Given the description of an element on the screen output the (x, y) to click on. 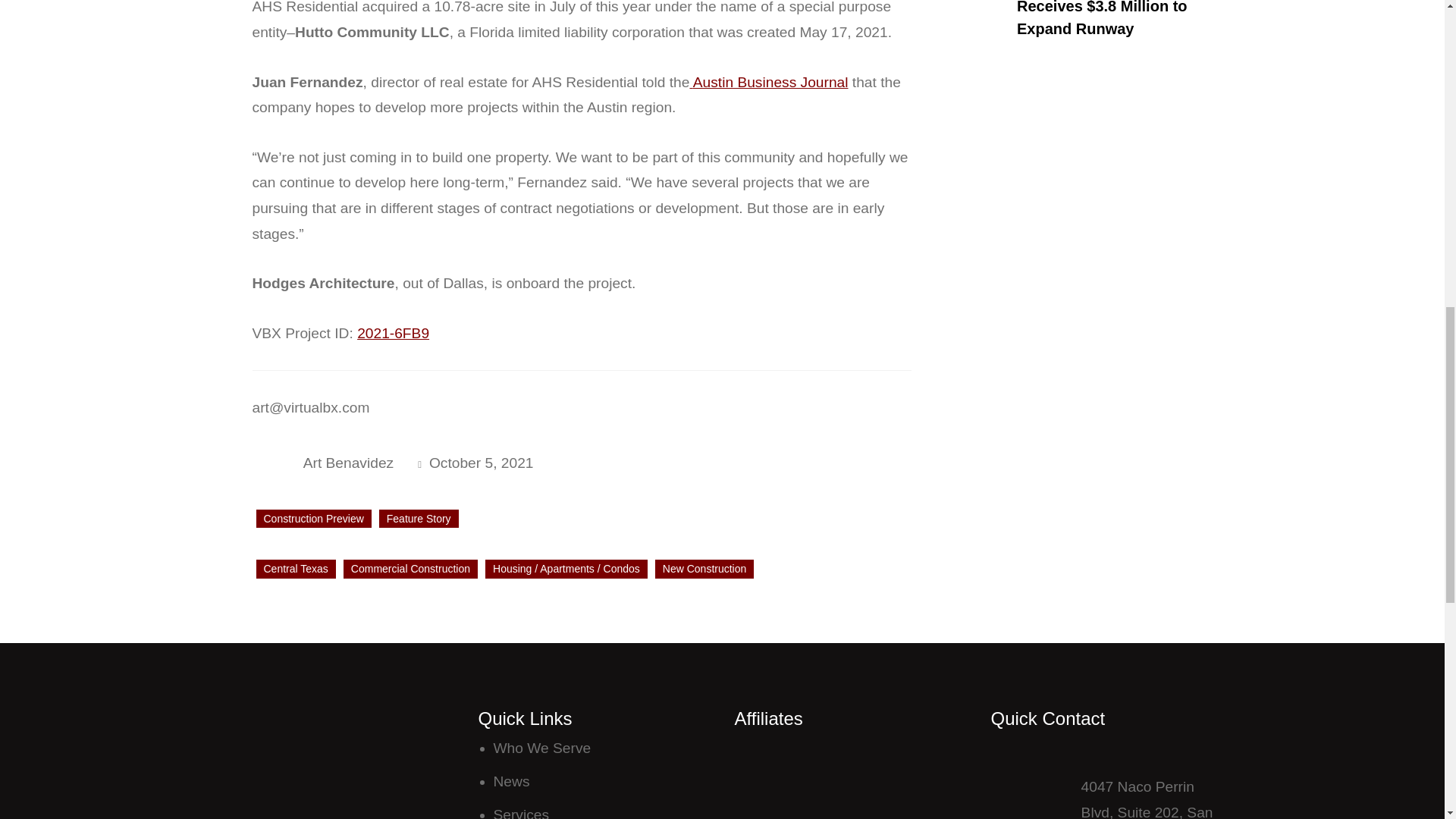
Construction Preview (313, 518)
New Construction (704, 568)
Feature Story (418, 518)
Austin Business Journal (767, 82)
Central Texas (296, 568)
2021-6FB9 (392, 333)
Who We Serve (542, 747)
Commercial Construction (410, 568)
